Given the description of an element on the screen output the (x, y) to click on. 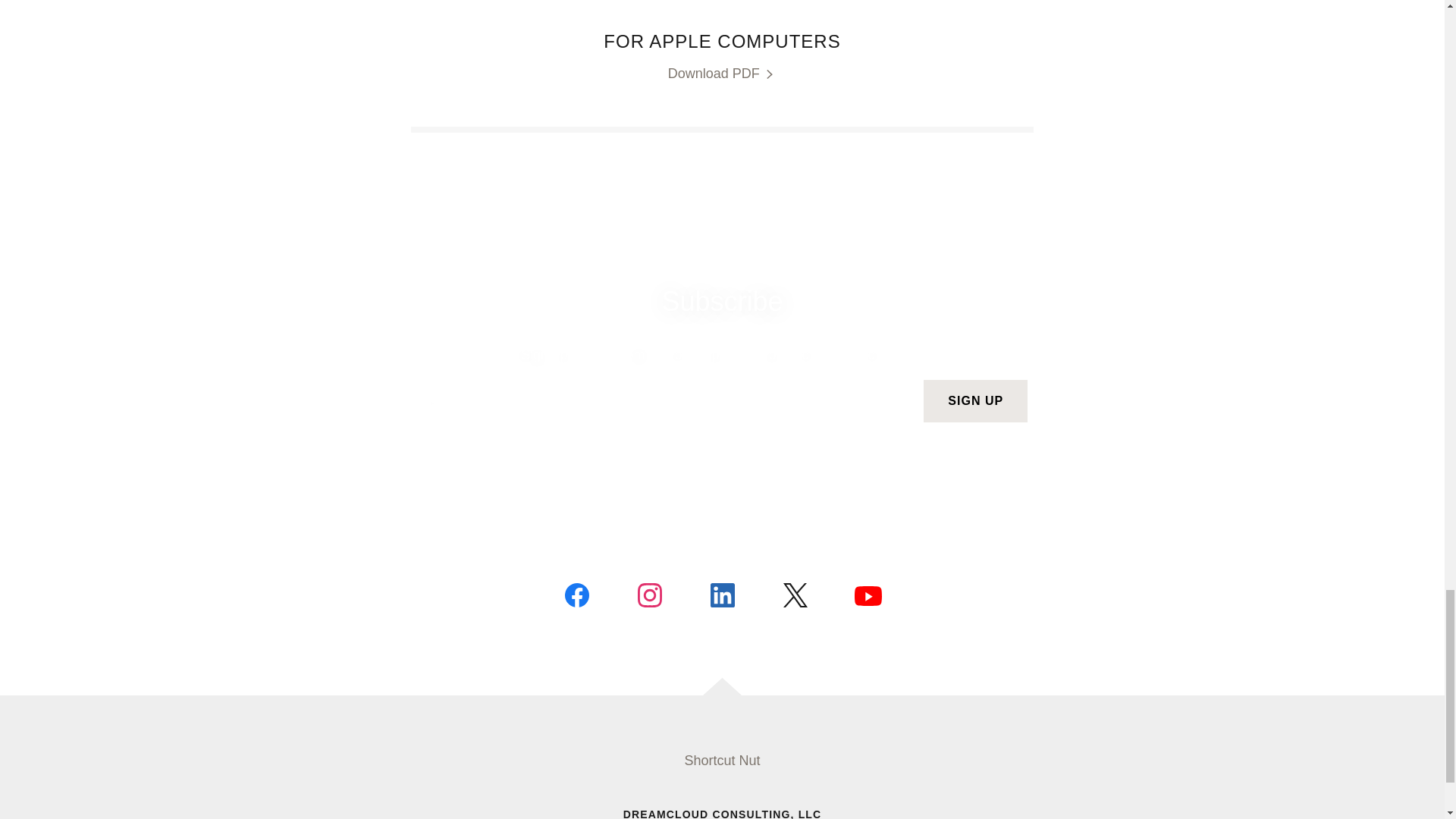
SIGN UP (975, 401)
Download PDF (722, 73)
Shortcut Nut (721, 760)
